Given the description of an element on the screen output the (x, y) to click on. 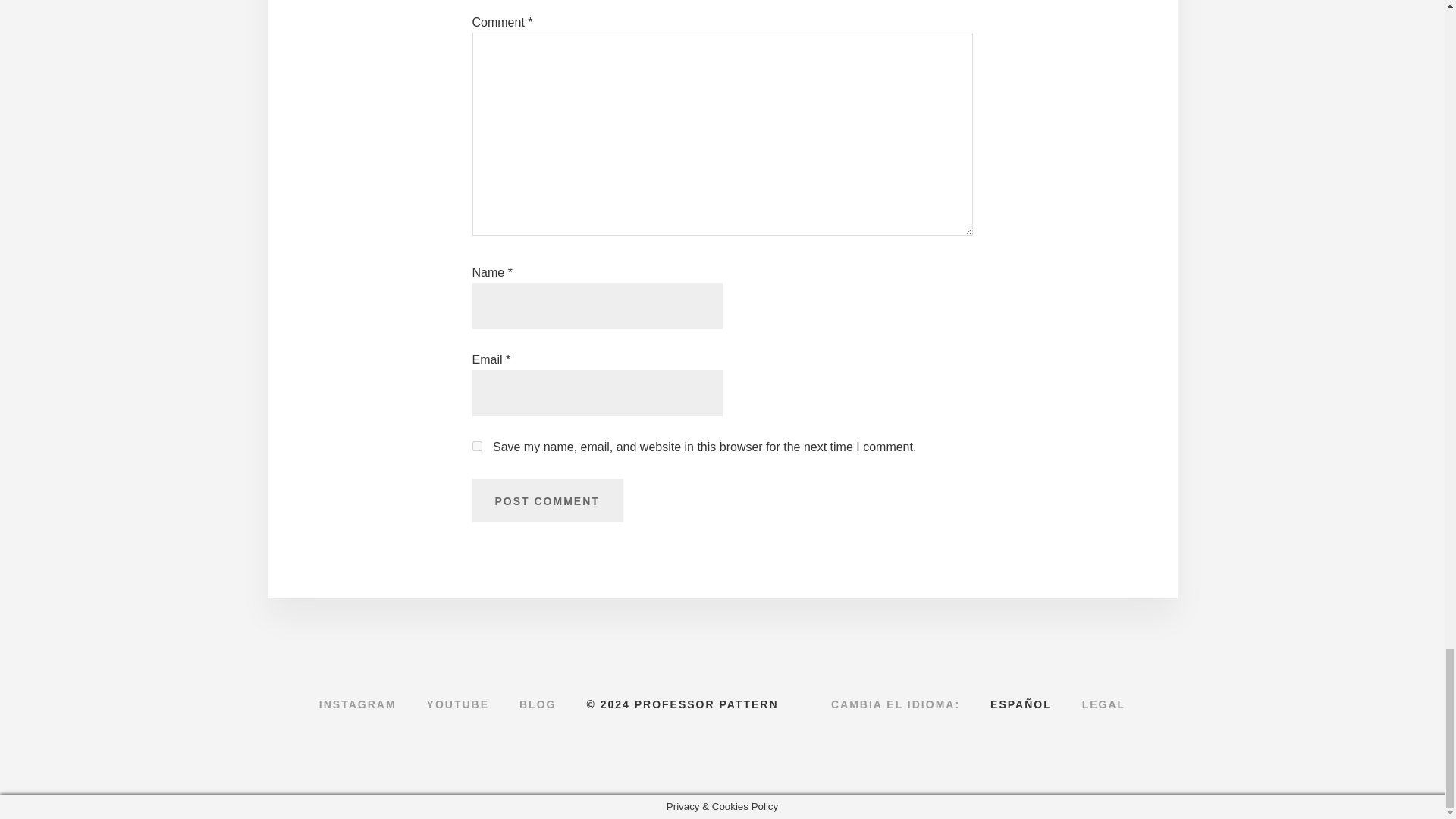
Post Comment (546, 500)
LEGAL (1103, 703)
yes (476, 446)
YOUTUBE (457, 703)
Post Comment (546, 500)
BLOG (536, 703)
INSTAGRAM (358, 703)
CAMBIA EL IDIOMA: (895, 703)
